Given the description of an element on the screen output the (x, y) to click on. 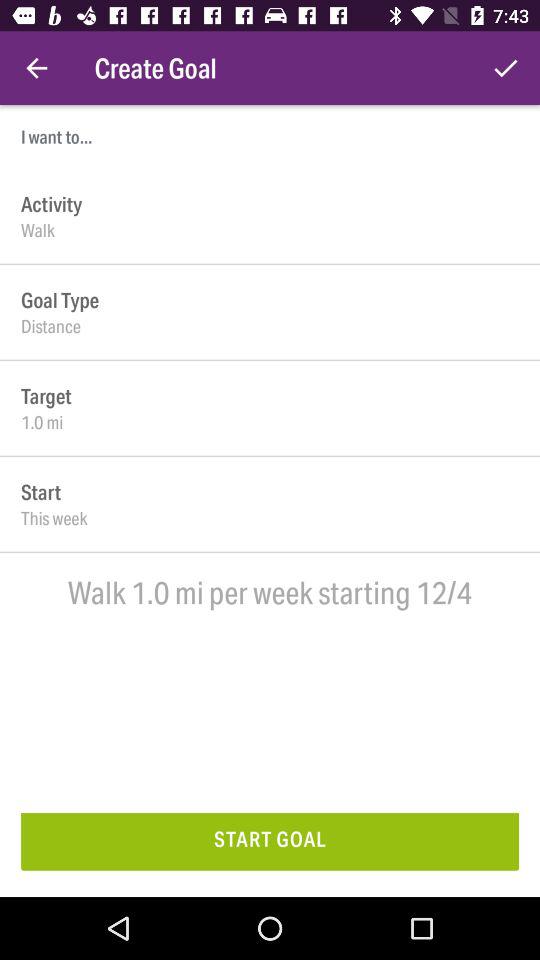
tap the icon next to create goal icon (36, 68)
